Given the description of an element on the screen output the (x, y) to click on. 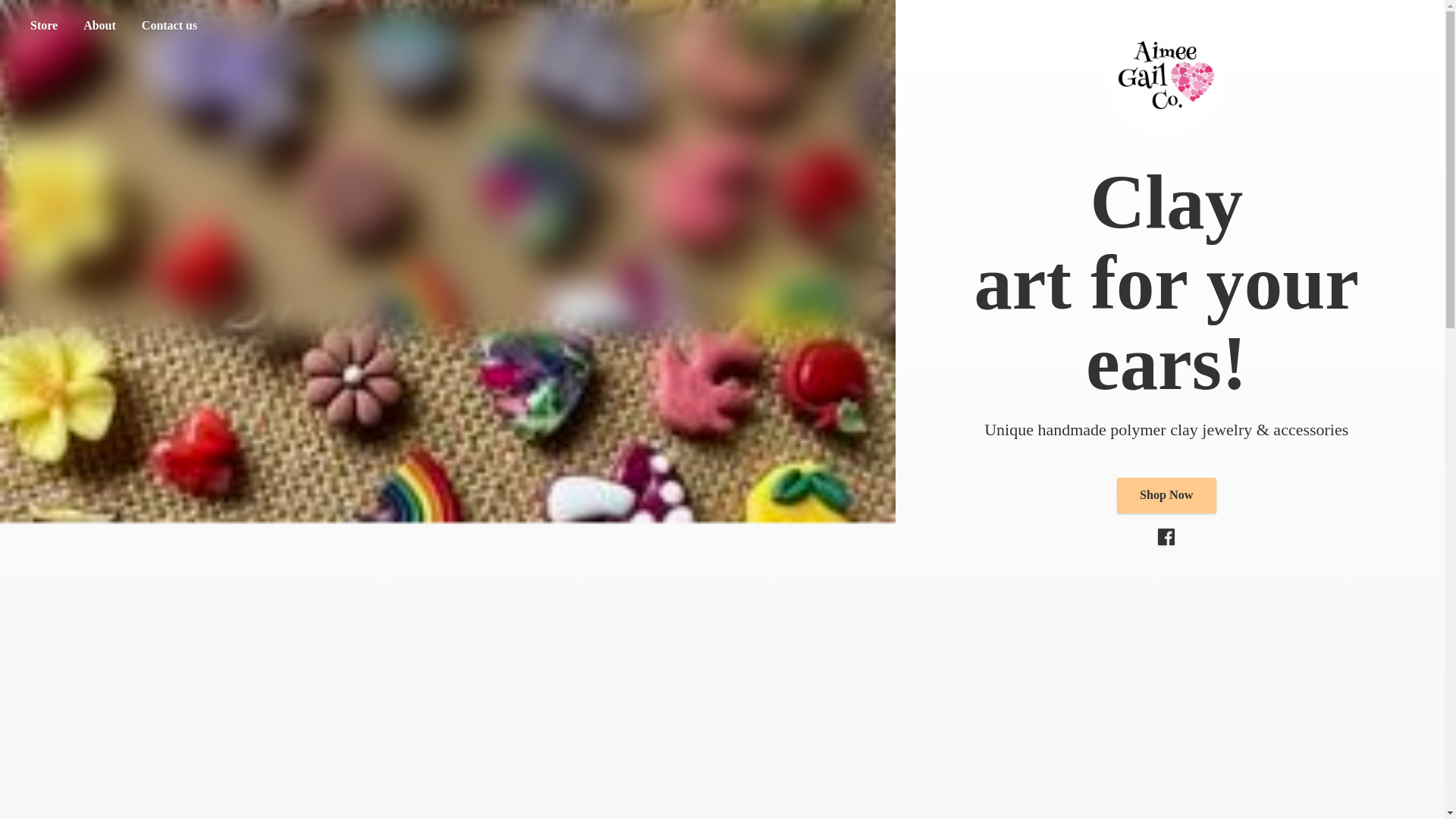
Shop Now (1165, 494)
Store (43, 25)
Contact us (169, 25)
About (99, 25)
